Given the description of an element on the screen output the (x, y) to click on. 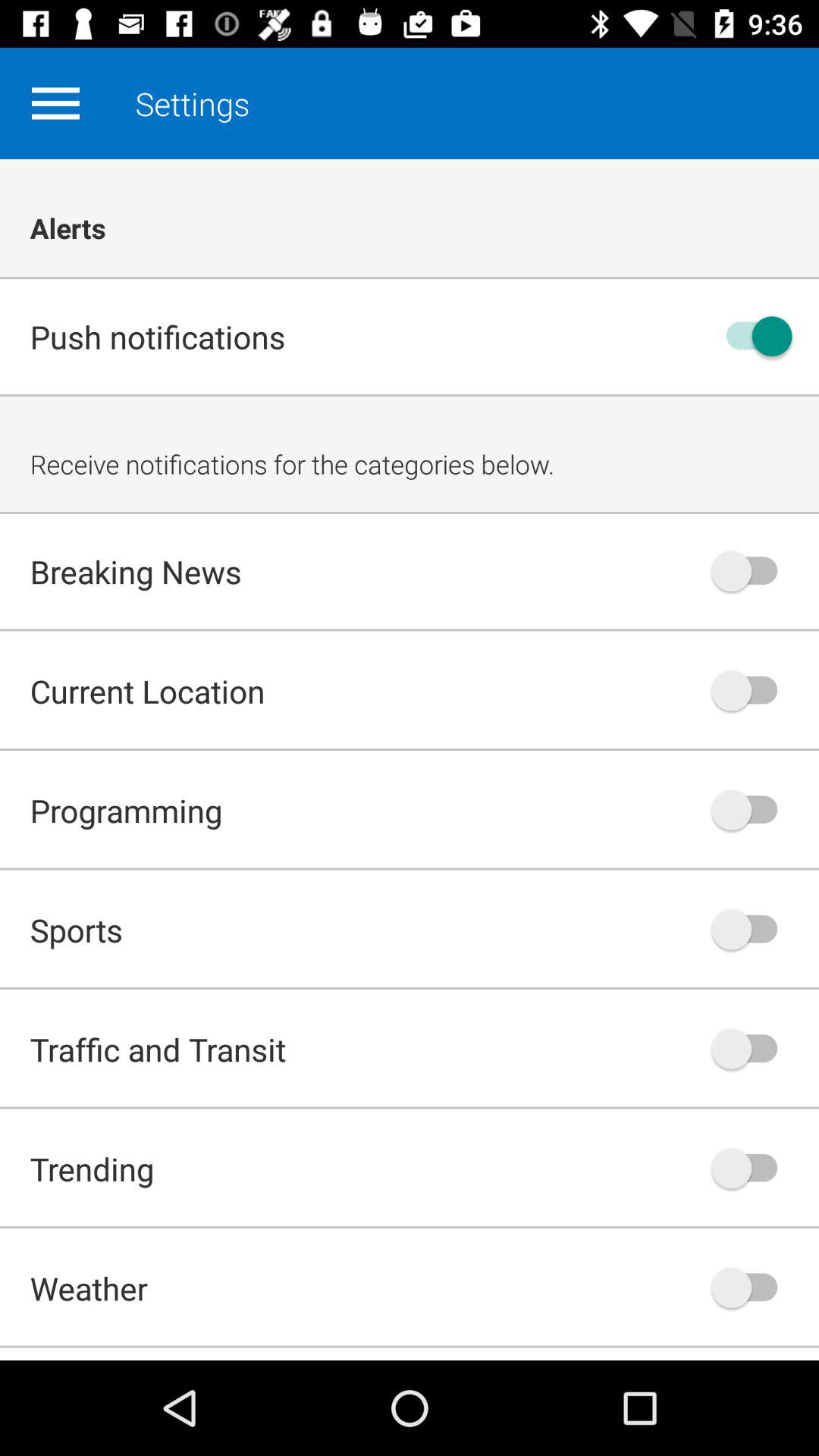
turn on traffic information alerts (751, 1049)
